Given the description of an element on the screen output the (x, y) to click on. 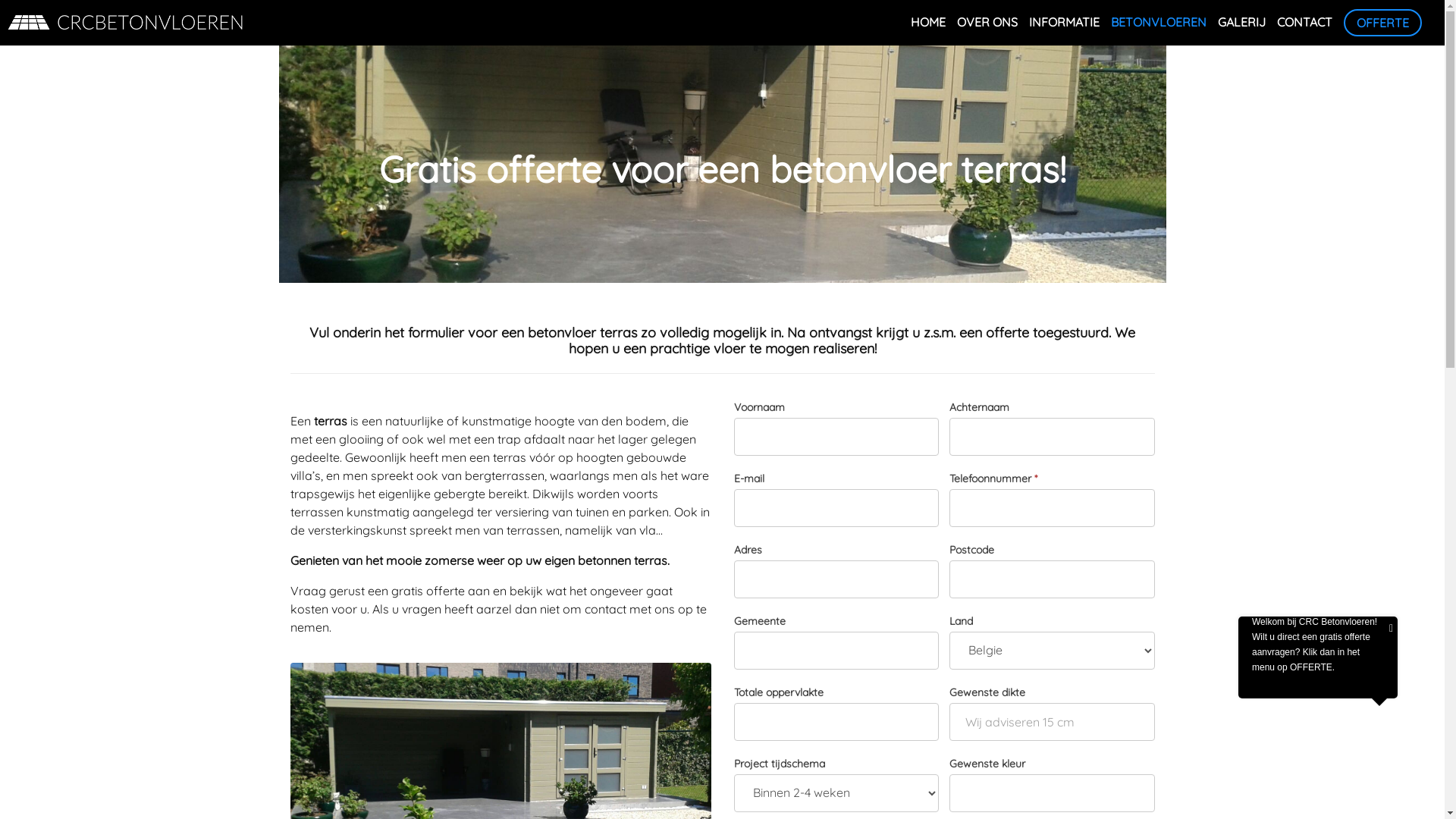
INFORMATIE Element type: text (1064, 22)
BETONVLOEREN Element type: text (1158, 22)
GALERIJ Element type: text (1241, 22)
OVER ONS Element type: text (987, 22)
CONTACT Element type: text (1304, 22)
OFFERTE Element type: text (1382, 22)
HOME Element type: text (927, 22)
